Given the description of an element on the screen output the (x, y) to click on. 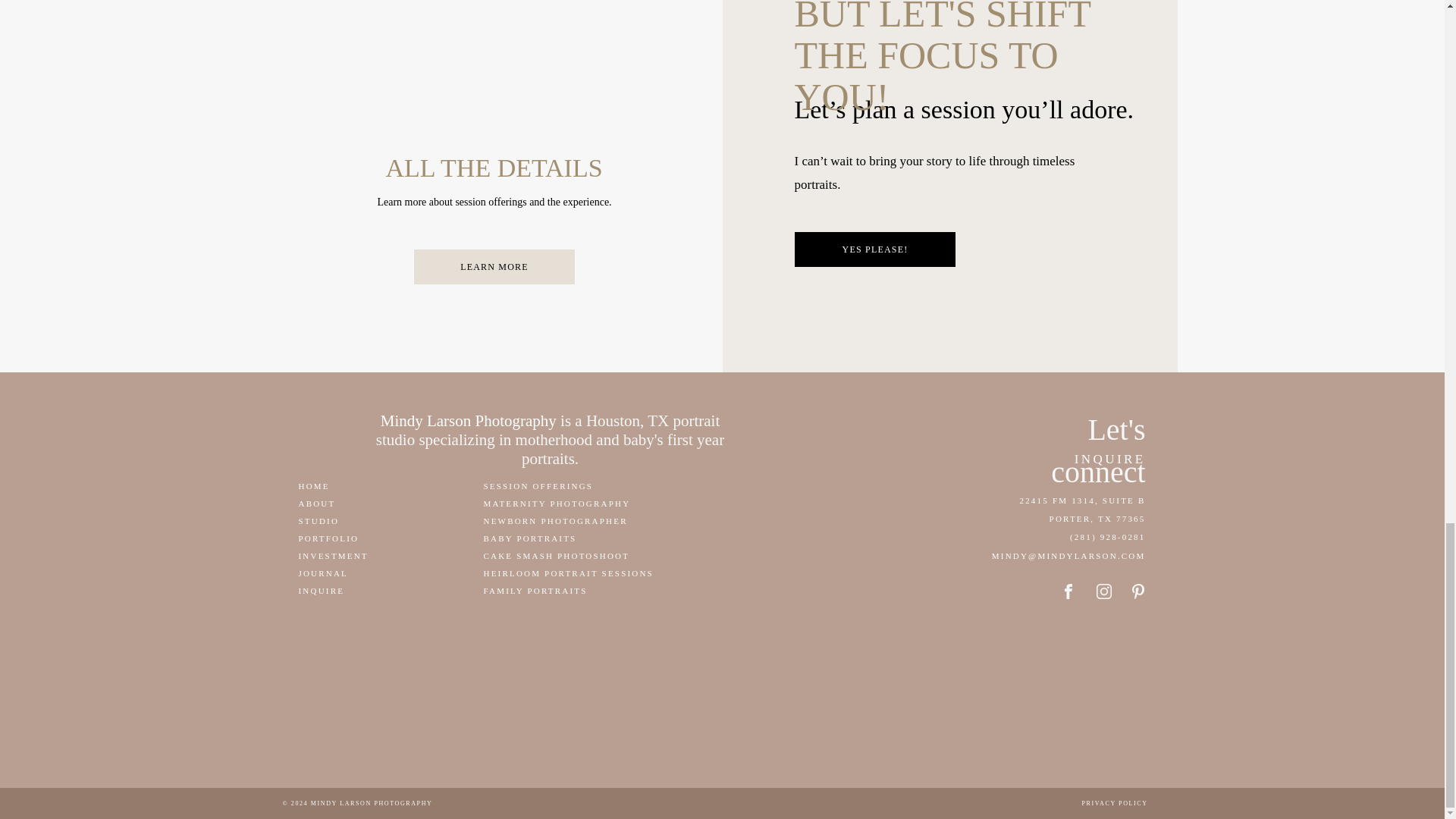
PORTFOLIO (344, 538)
INQUIRE (328, 589)
ABOUT (321, 502)
INVESTMENT (335, 555)
JOURNAL (344, 572)
Mindy Larson Photography (468, 420)
STUDIO (335, 520)
SESSION OFFERINGS (550, 485)
LEARN MORE (494, 266)
HEIRLOOM PORTRAIT SESSIONS (580, 572)
YES PLEASE! (874, 248)
PRIVACY POLICY (1117, 803)
BABY PORTRAITS (561, 538)
MATERNITY PHOTOGRAPHY (561, 502)
FAMILY PORTRAITS (558, 589)
